Given the description of an element on the screen output the (x, y) to click on. 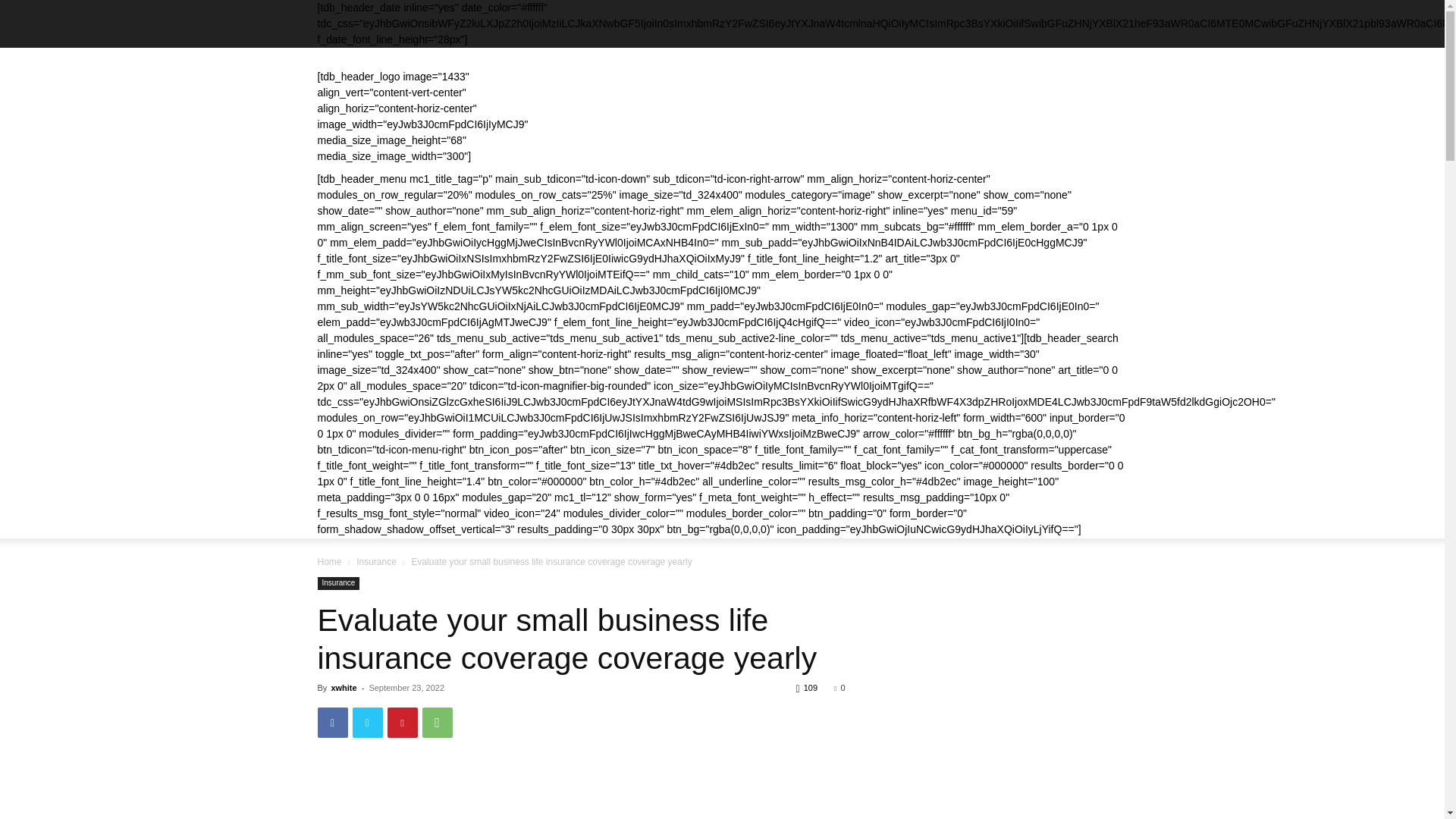
Twitter (366, 722)
Insurance (376, 561)
Facebook (332, 722)
Home (328, 561)
0 (839, 687)
Insurance (338, 583)
xwhite (343, 687)
View all posts in Insurance (376, 561)
WhatsApp (436, 722)
Pinterest (401, 722)
